Given the description of an element on the screen output the (x, y) to click on. 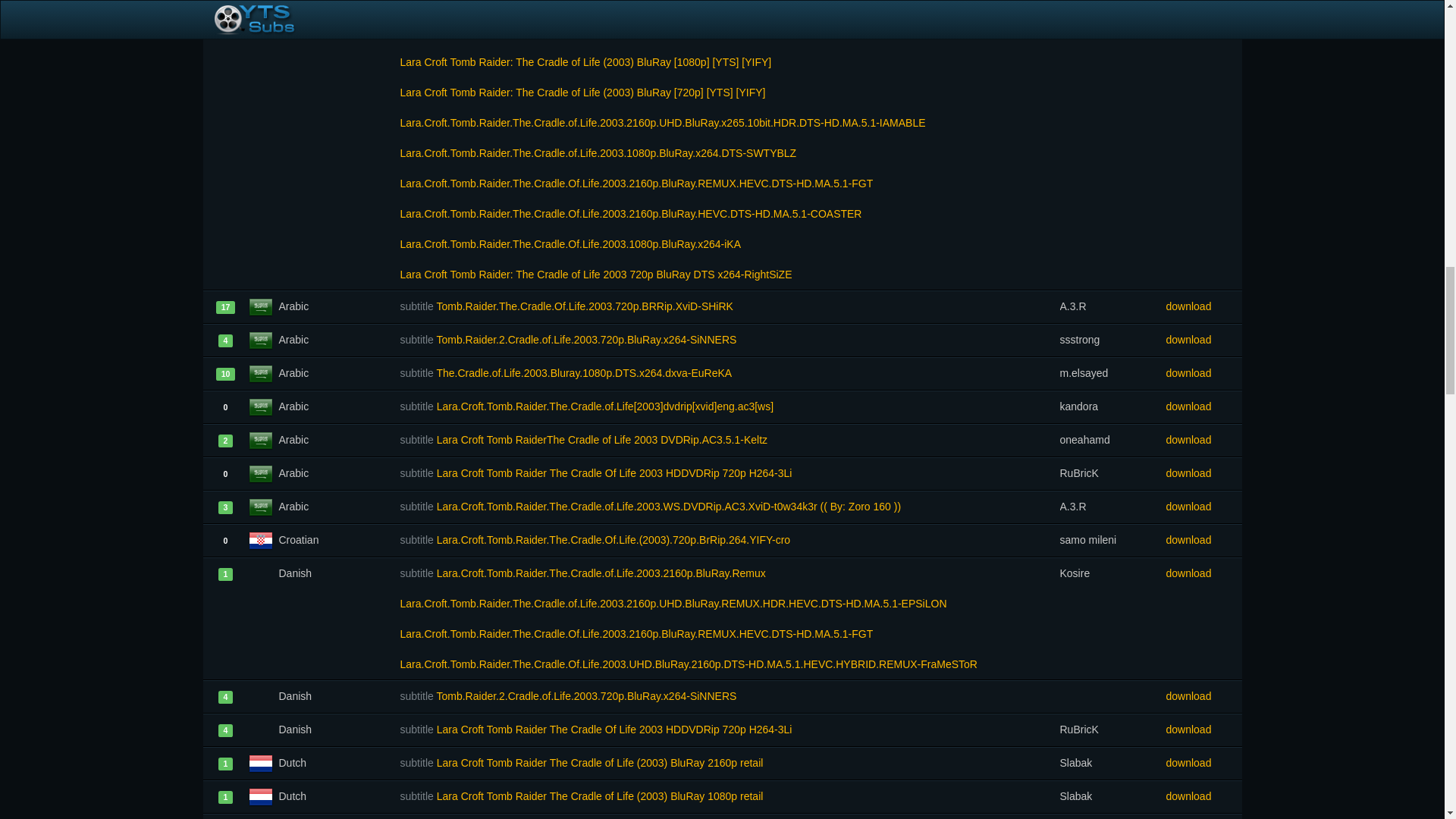
download (1203, 8)
download (1203, 472)
download (1203, 406)
download (1203, 372)
download (1203, 539)
download (1203, 695)
download (1203, 339)
download (1203, 572)
download (1203, 762)
download (1203, 796)
download (1203, 306)
